Given the description of an element on the screen output the (x, y) to click on. 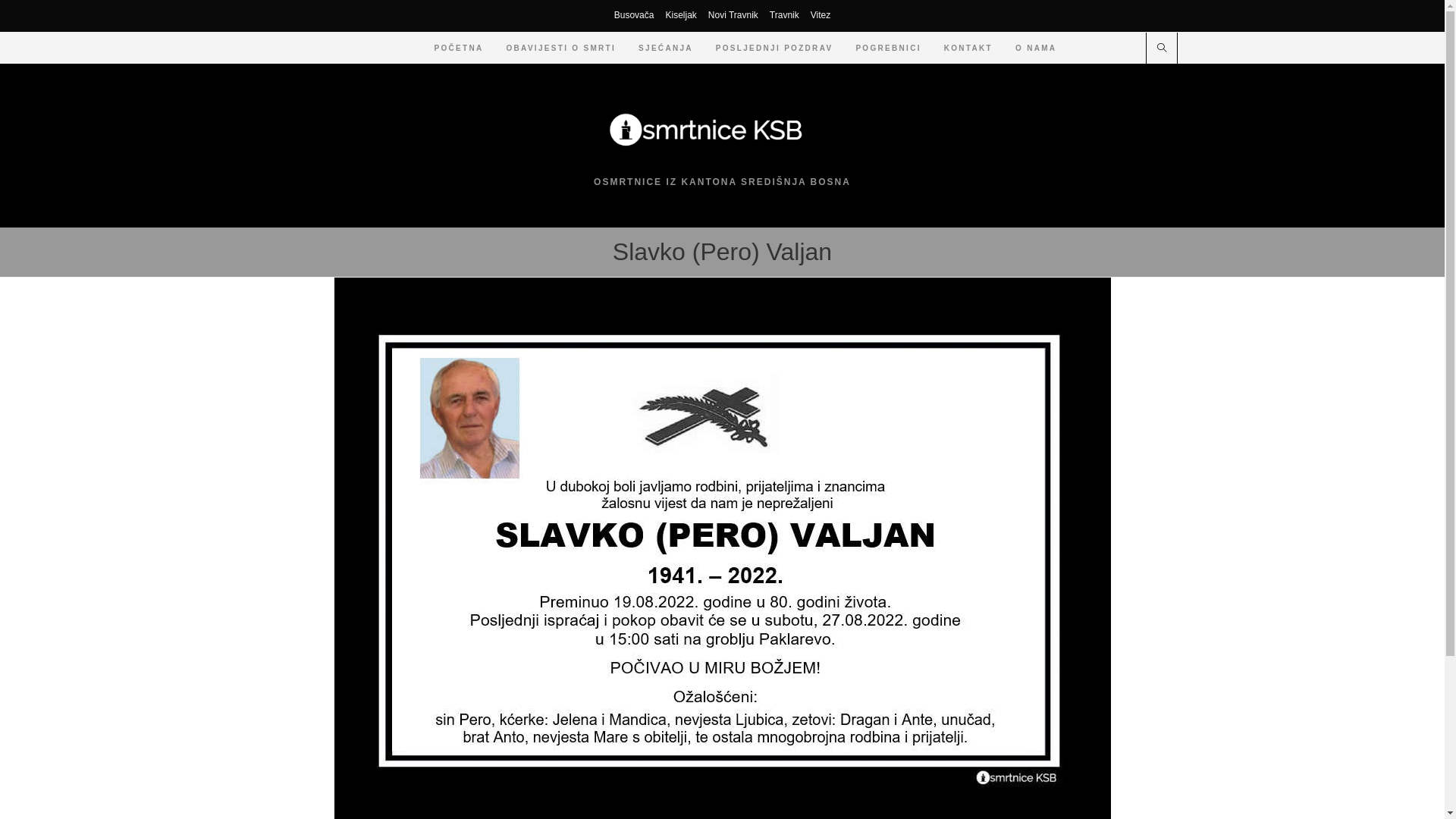
O NAMA Element type: text (1035, 47)
KONTAKT Element type: text (968, 47)
Vitez Element type: text (820, 15)
OBAVIJESTI O SMRTI Element type: text (560, 47)
Kiseljak Element type: text (680, 15)
Novi Travnik Element type: text (733, 15)
POGREBNICI Element type: text (887, 47)
POSLJEDNJI POZDRAV Element type: text (774, 47)
Travnik Element type: text (784, 15)
